Given the description of an element on the screen output the (x, y) to click on. 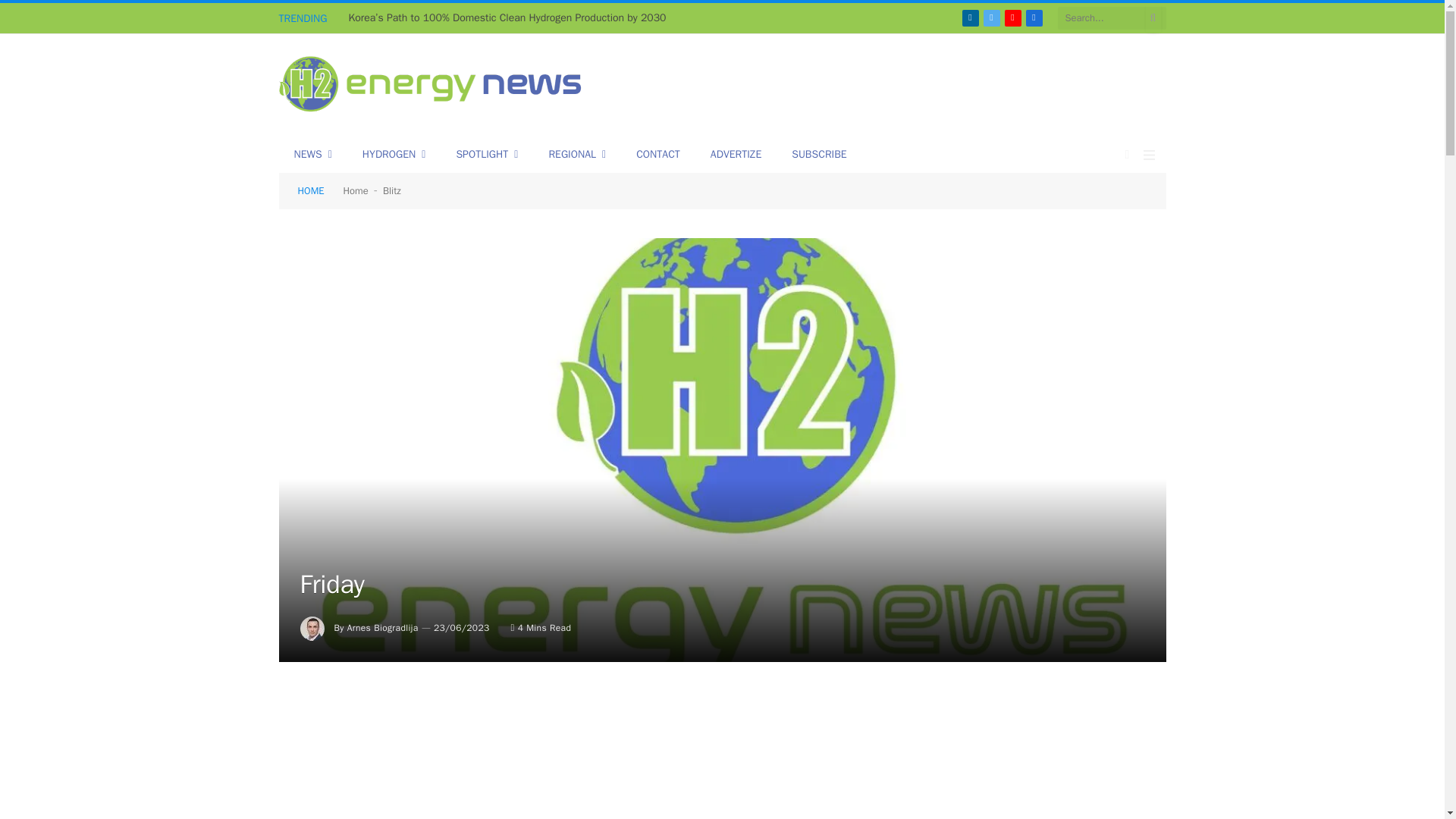
YouTube (1012, 17)
NEWS (313, 154)
Switch to Dark Design - easier on eyes. (1127, 154)
HYDROGEN (394, 154)
LinkedIn (969, 17)
Green Hydrogen News (430, 85)
Posts by Arnes Biogradlija (383, 627)
Facebook (1033, 17)
